Given the description of an element on the screen output the (x, y) to click on. 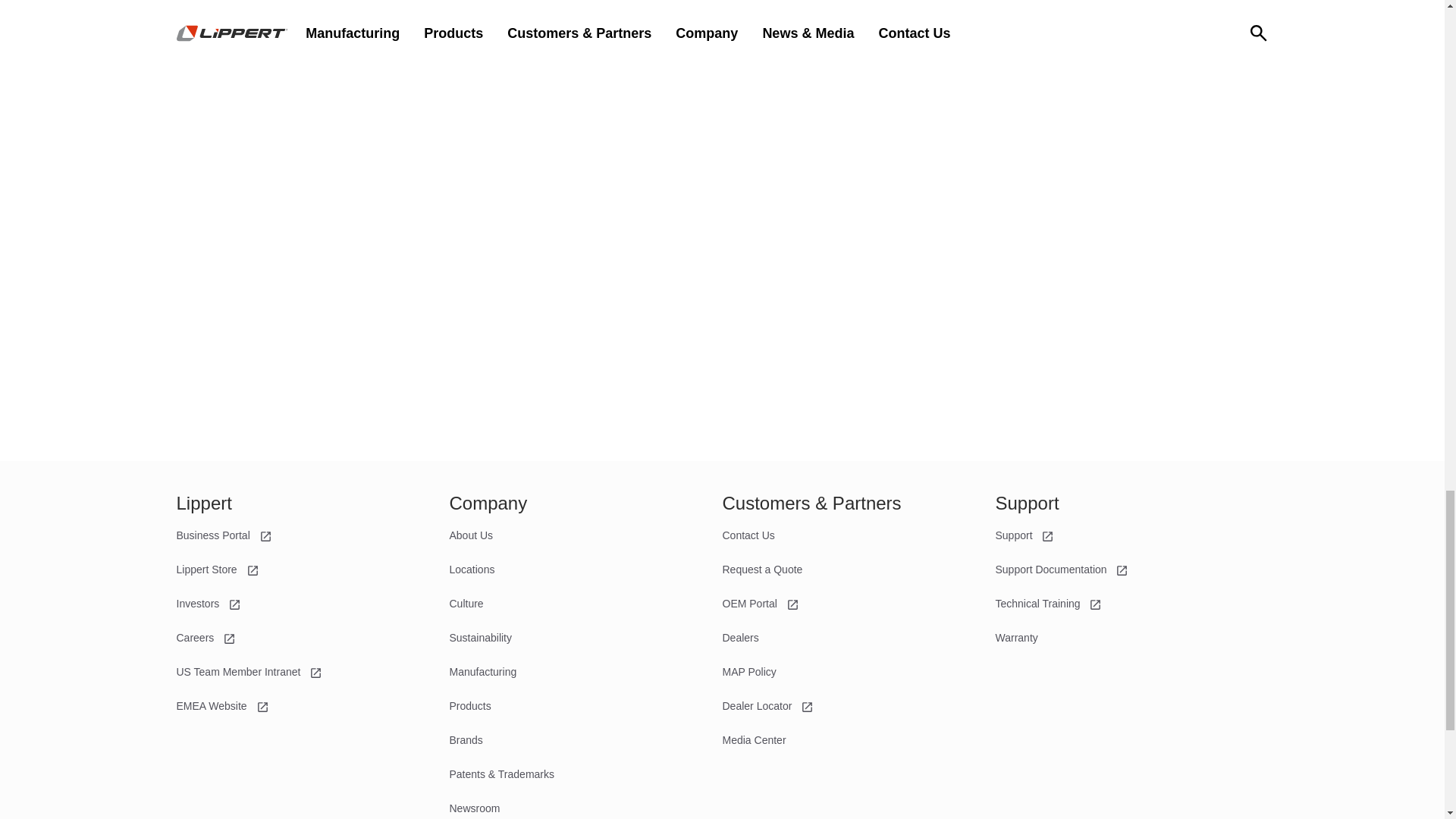
Dealers (740, 637)
Lippert Store (217, 569)
Locations (471, 569)
Products (469, 705)
Brands (464, 739)
Business Portal (223, 535)
Dealer Locator (767, 705)
Media Center (754, 739)
Manufacturing (482, 671)
Careers (205, 637)
EMEA Website (221, 705)
Newsroom (473, 808)
Contact Us (748, 535)
US Team Member Intranet (248, 671)
MAP Policy (749, 671)
